Given the description of an element on the screen output the (x, y) to click on. 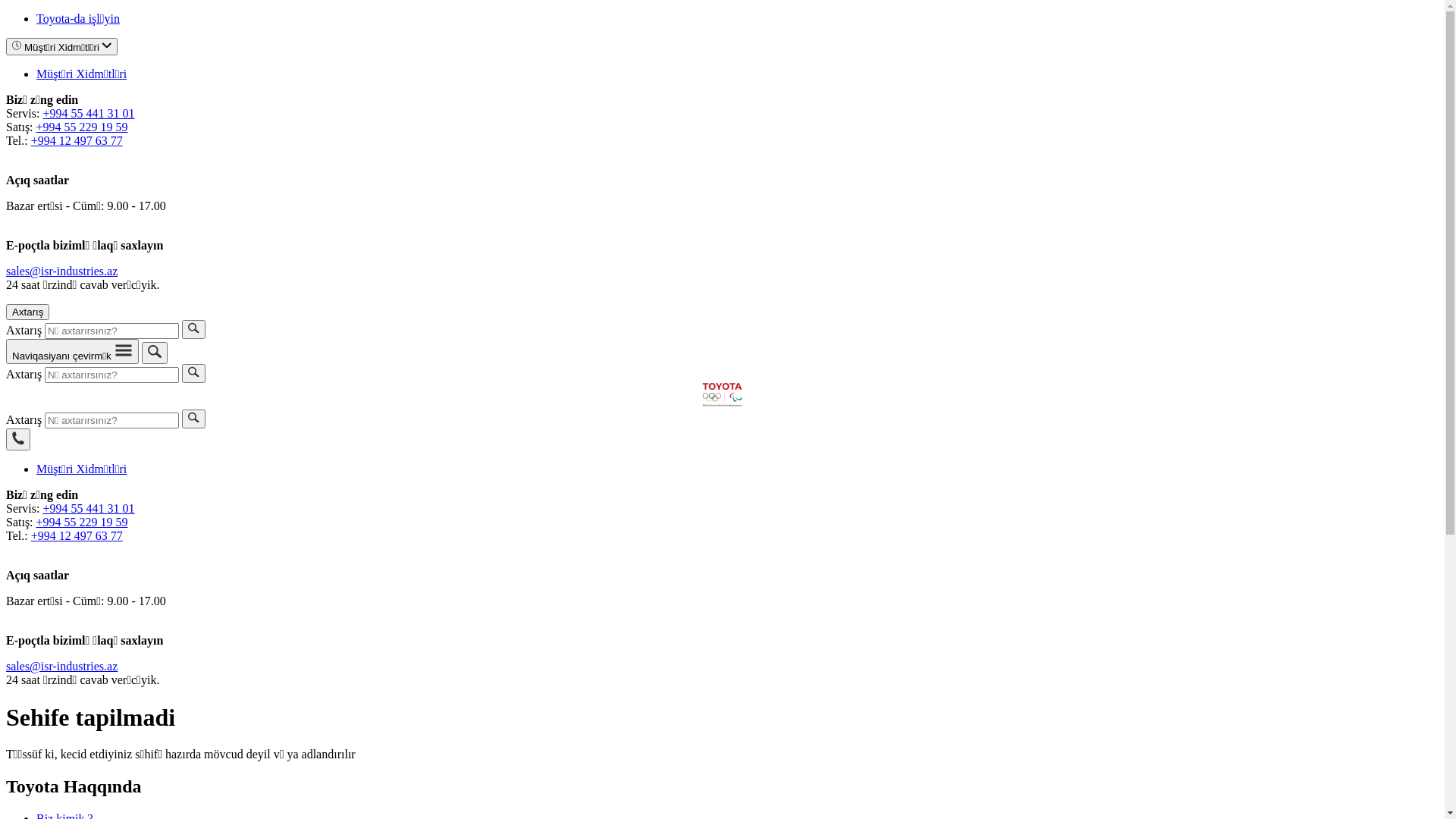
+994 55 441 31 01 Element type: text (88, 112)
+994 55 229 19 59 Element type: text (82, 521)
+994 12 497 63 77 Element type: text (76, 140)
+994 55 229 19 59 Element type: text (82, 126)
sales@isr-industries.az Element type: text (61, 665)
sales@isr-industries.az Element type: text (61, 270)
Toyota Material Handling Element type: hover (722, 394)
+994 12 497 63 77 Element type: text (76, 535)
+994 55 441 31 01 Element type: text (88, 508)
